Given the description of an element on the screen output the (x, y) to click on. 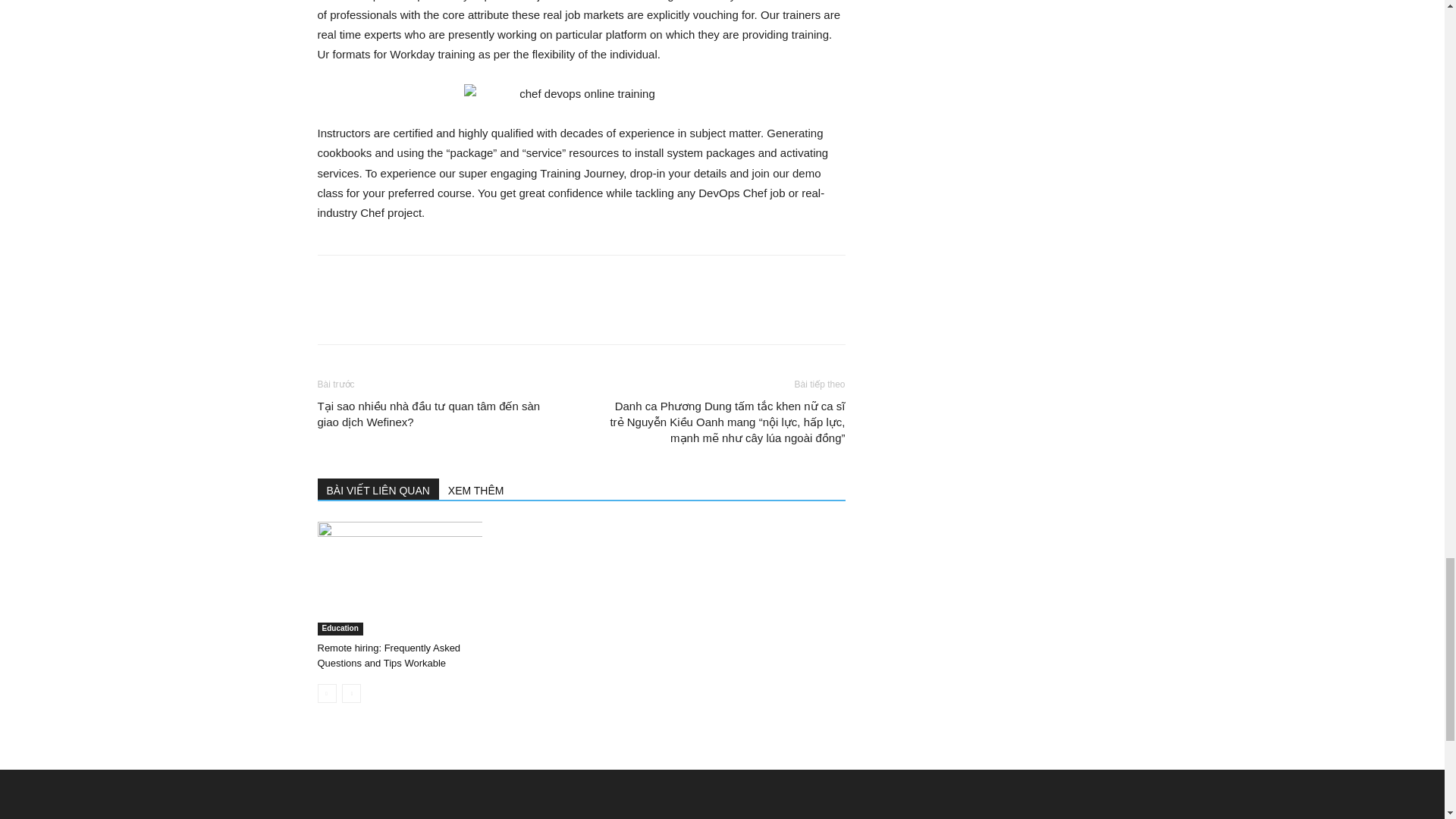
bottomFacebookLike (430, 279)
